Given the description of an element on the screen output the (x, y) to click on. 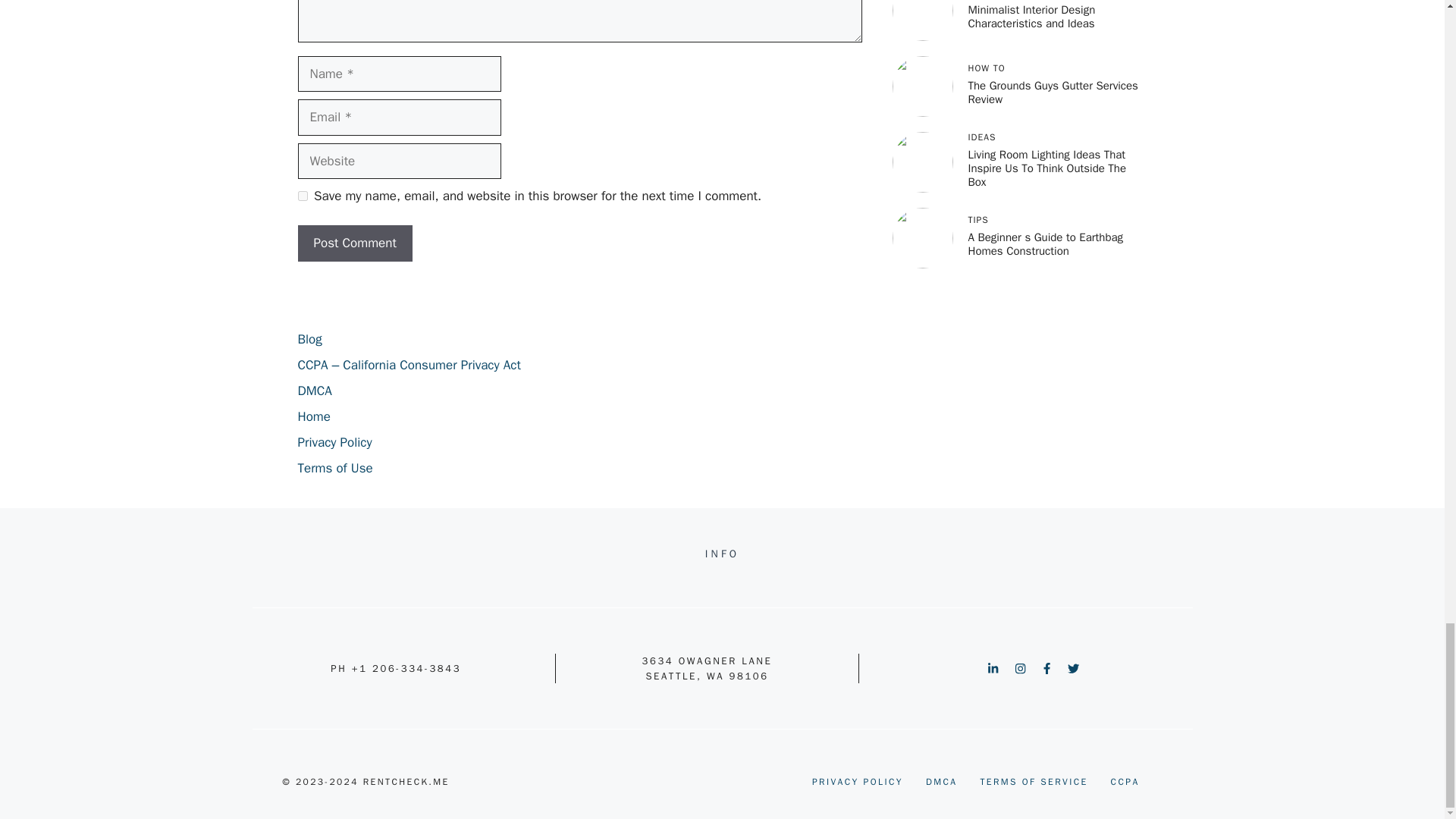
Post Comment (354, 243)
yes (302, 195)
Post Comment (354, 243)
